Given the description of an element on the screen output the (x, y) to click on. 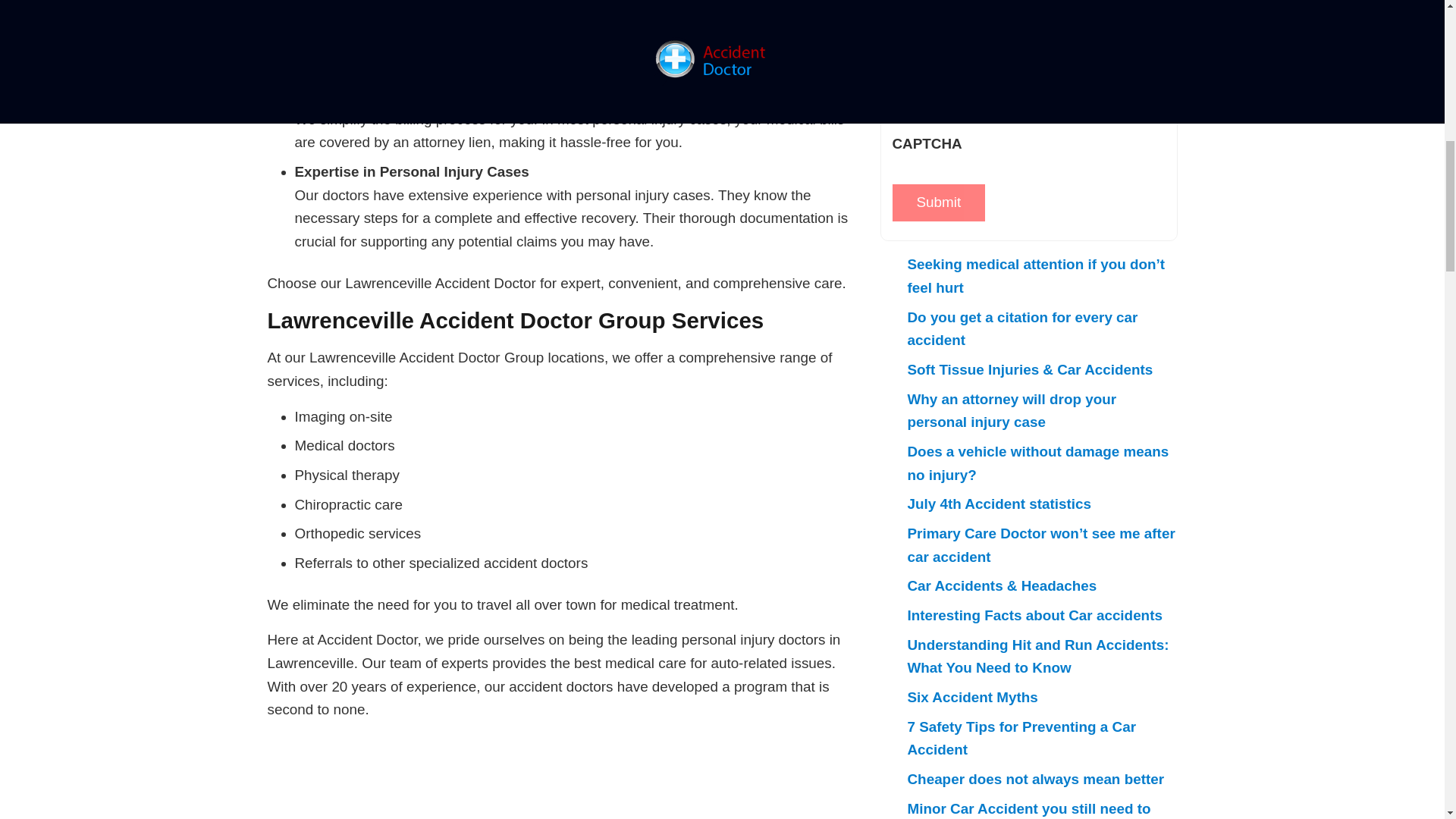
Cheaper does not always mean better (1035, 779)
Six Accident Myths (971, 697)
Submit (938, 202)
Minor Car Accident you still need to see a doctor (1028, 809)
Interesting Facts about Car accidents (1034, 615)
Why an attorney will drop your personal injury case (1011, 410)
Do you get a citation for every car accident (1022, 328)
Does a vehicle without damage means no injury? (1038, 463)
Understanding Hit and Run Accidents: What You Need to Know (1038, 656)
Submit (938, 202)
7 Safety Tips for Preventing a Car Accident (1021, 738)
July 4th Accident statistics (998, 503)
